Given the description of an element on the screen output the (x, y) to click on. 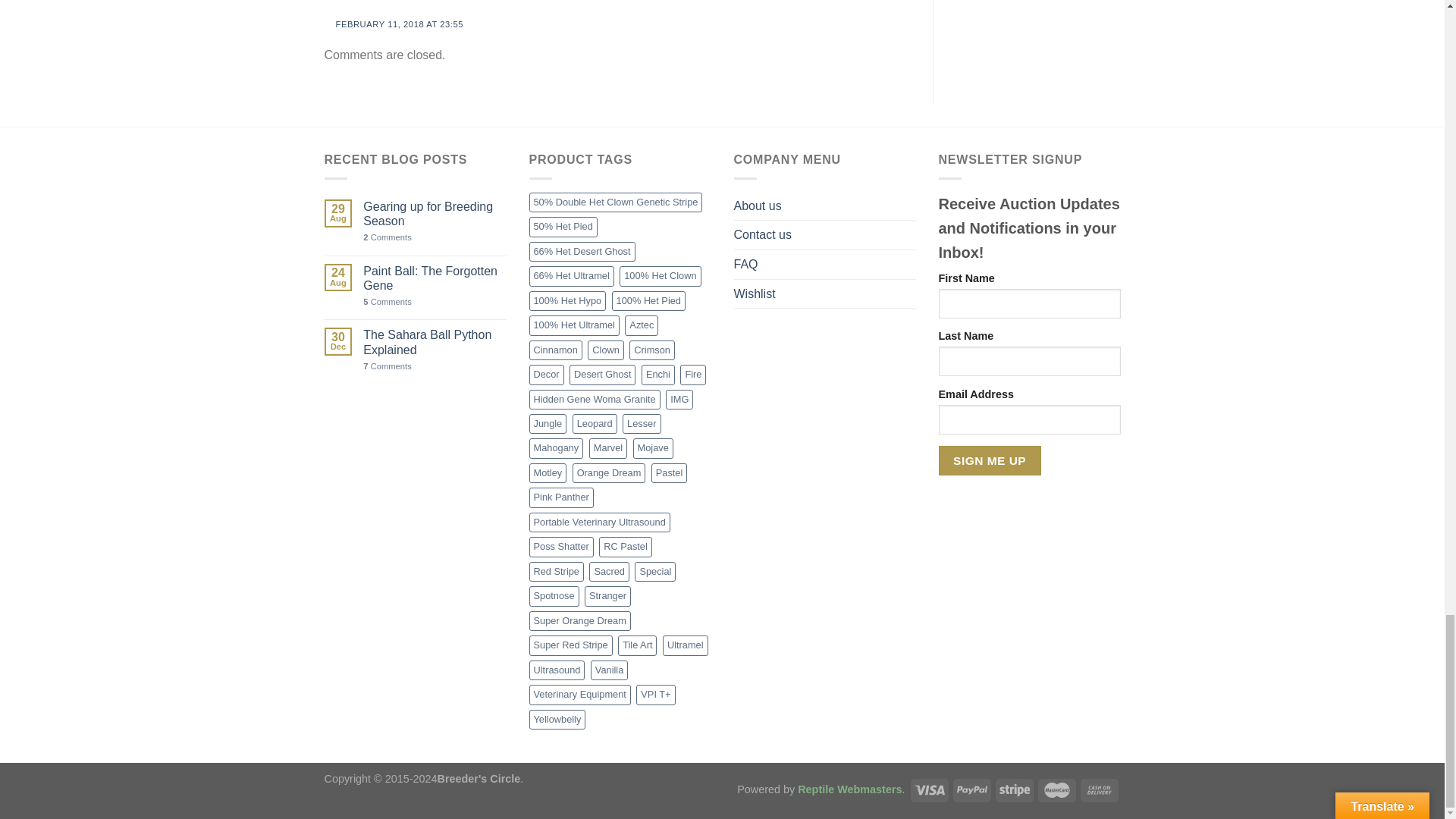
Paint Ball: The Forgotten Gene (433, 277)
Sign Me Up (990, 460)
Gearing up for Breeding Season (433, 213)
